Given the description of an element on the screen output the (x, y) to click on. 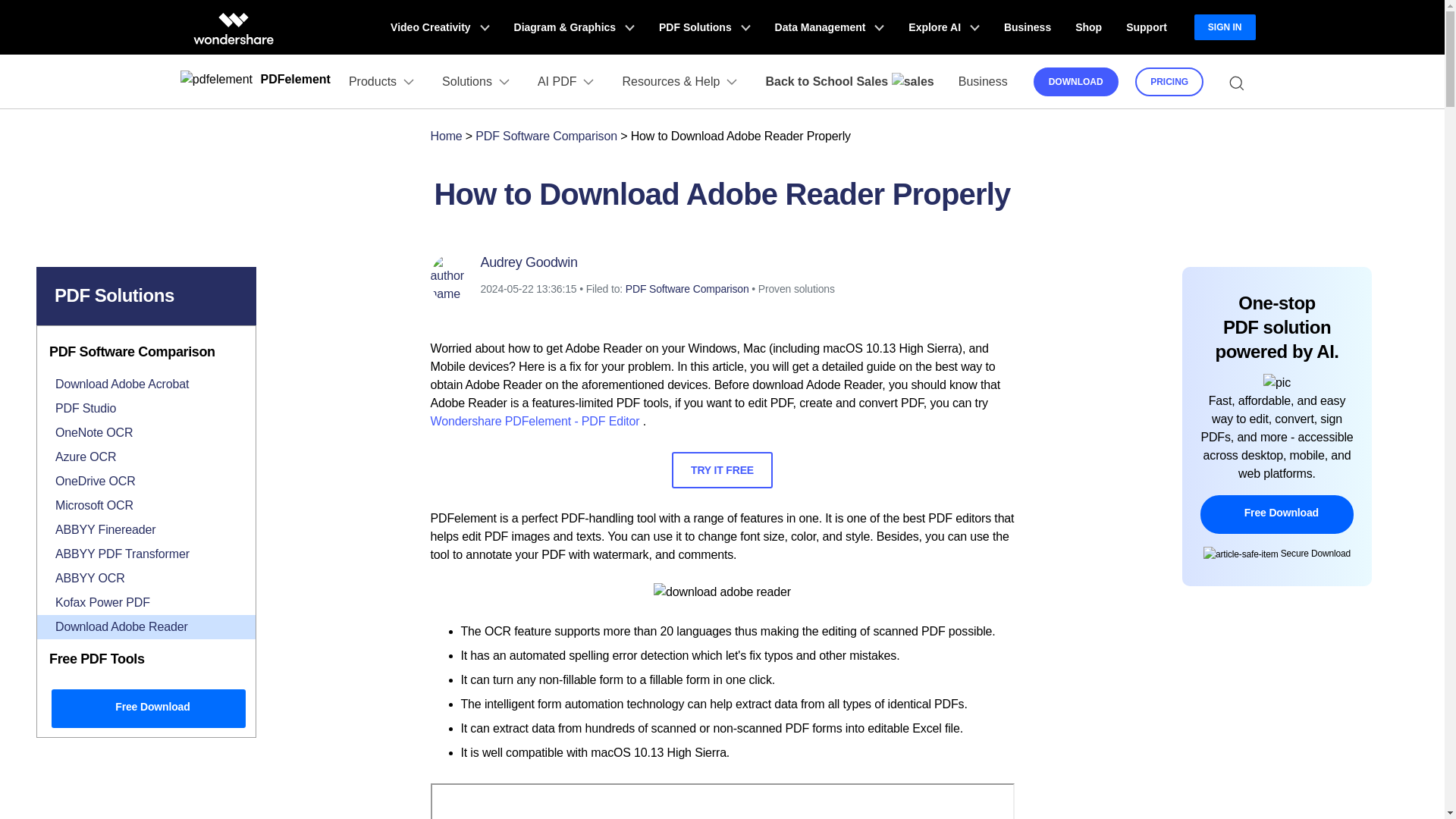
Video Creativity (439, 27)
Explore AI (943, 27)
PDF Solutions (704, 27)
Data Management (829, 27)
